Given the description of an element on the screen output the (x, y) to click on. 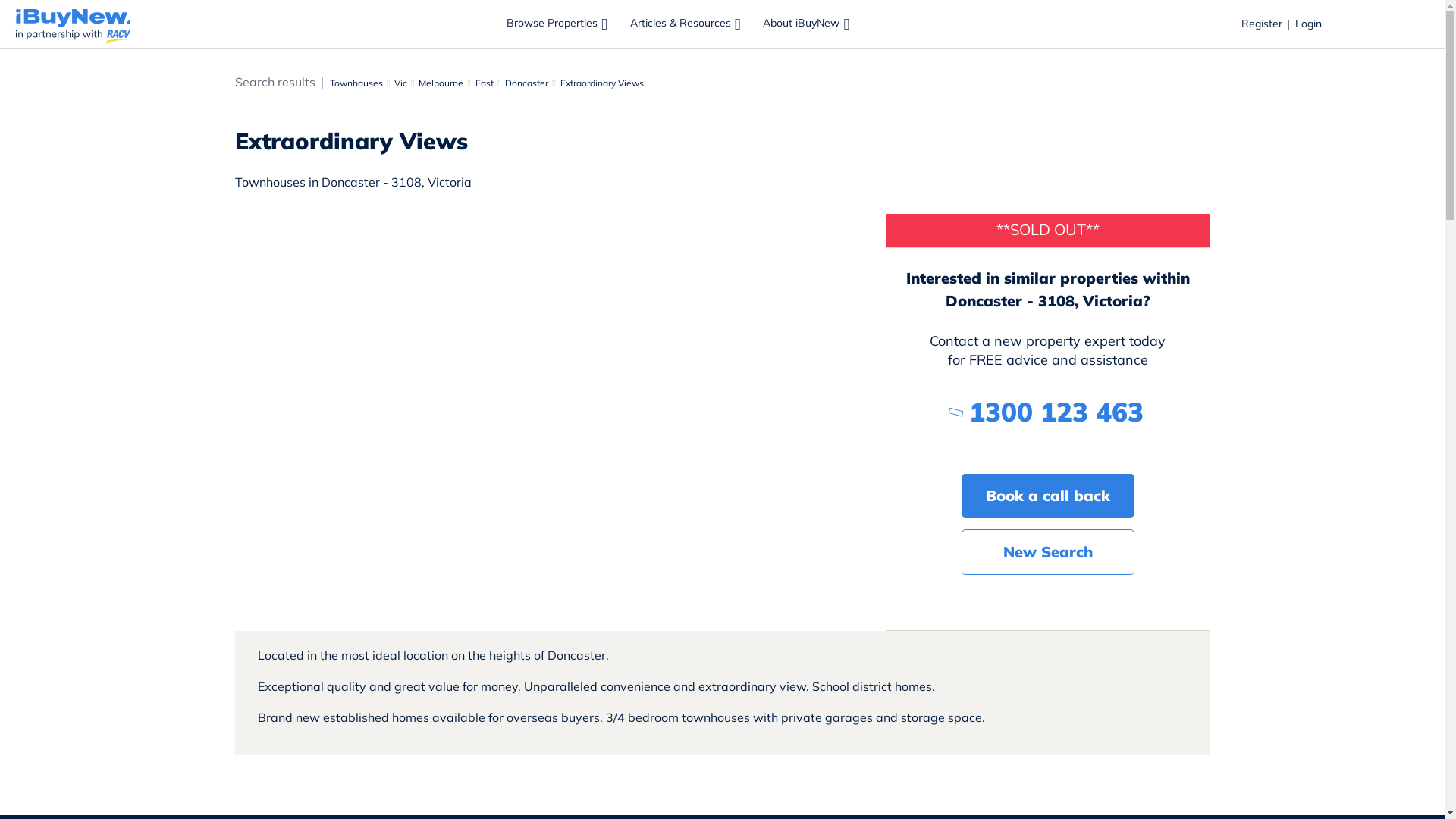
Browse Properties (558, 23)
Register (1261, 23)
Login (1308, 23)
